Given the description of an element on the screen output the (x, y) to click on. 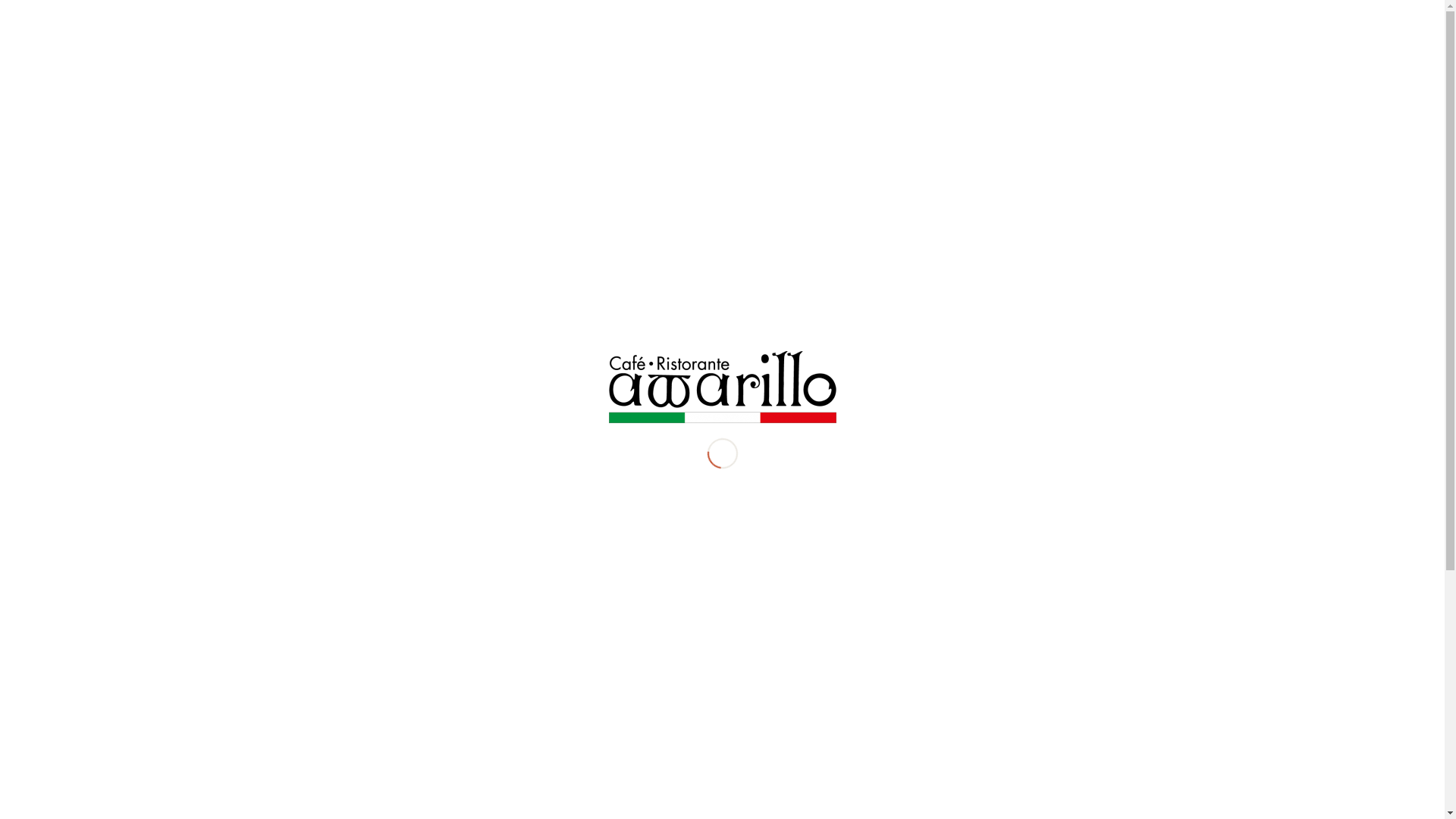
Kontakt Element type: text (1098, 61)
Gallerie Element type: text (1041, 61)
Online Reservation Element type: text (50, 9)
Lade Element type: hover (721, 386)
Facebook Element type: hover (1169, 60)
Angebot Element type: text (932, 61)
Events Element type: text (988, 61)
Restaurant Element type: text (866, 61)
Willkommen Element type: text (792, 61)
